Given the description of an element on the screen output the (x, y) to click on. 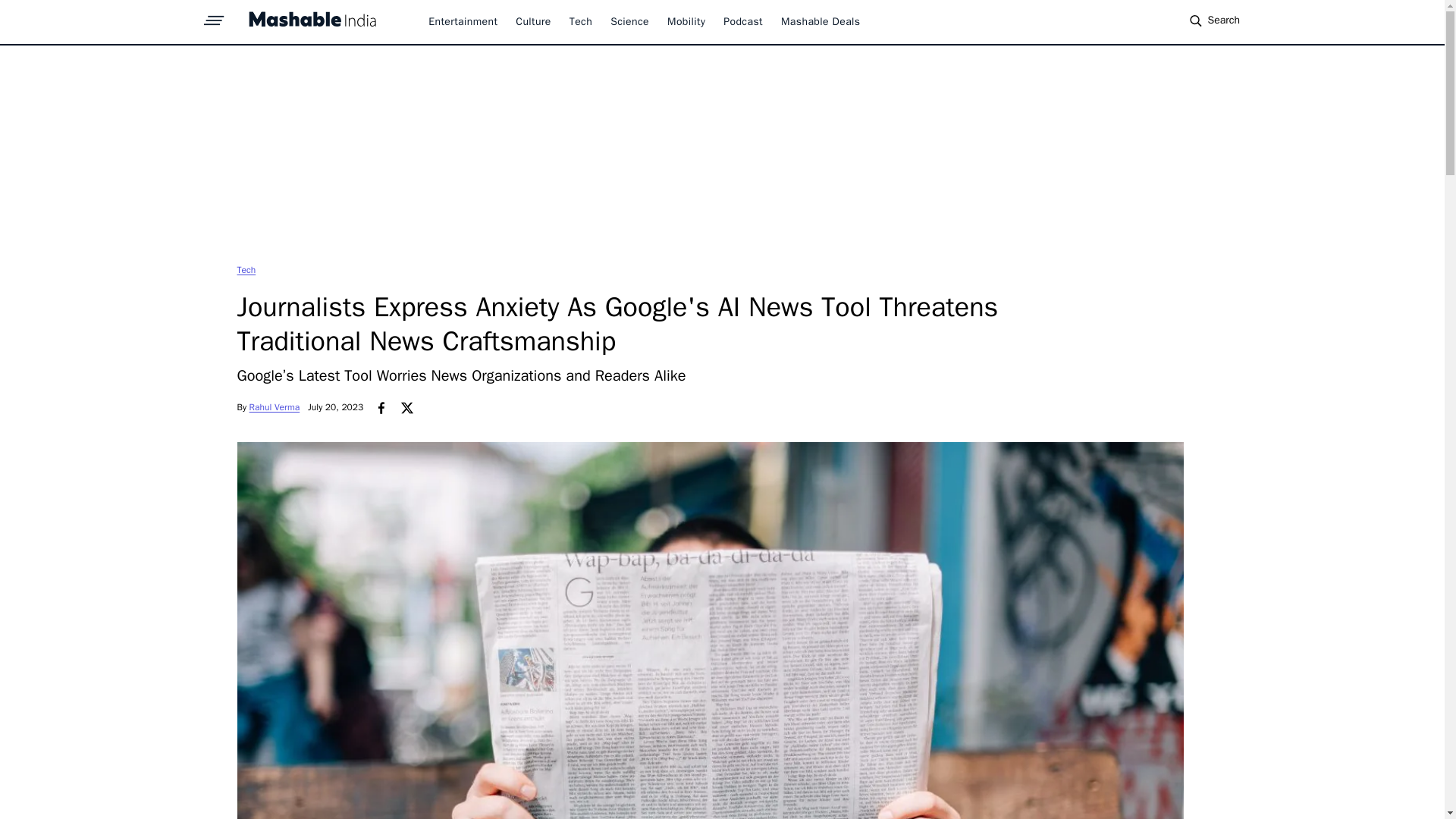
Tech (245, 269)
Rahul Verma (273, 407)
Tech (580, 21)
Entertainment (462, 21)
Mashable Deals (820, 21)
Tech (245, 269)
Podcast (742, 21)
sprite-hamburger (213, 16)
Culture (532, 21)
Science (629, 21)
